Given the description of an element on the screen output the (x, y) to click on. 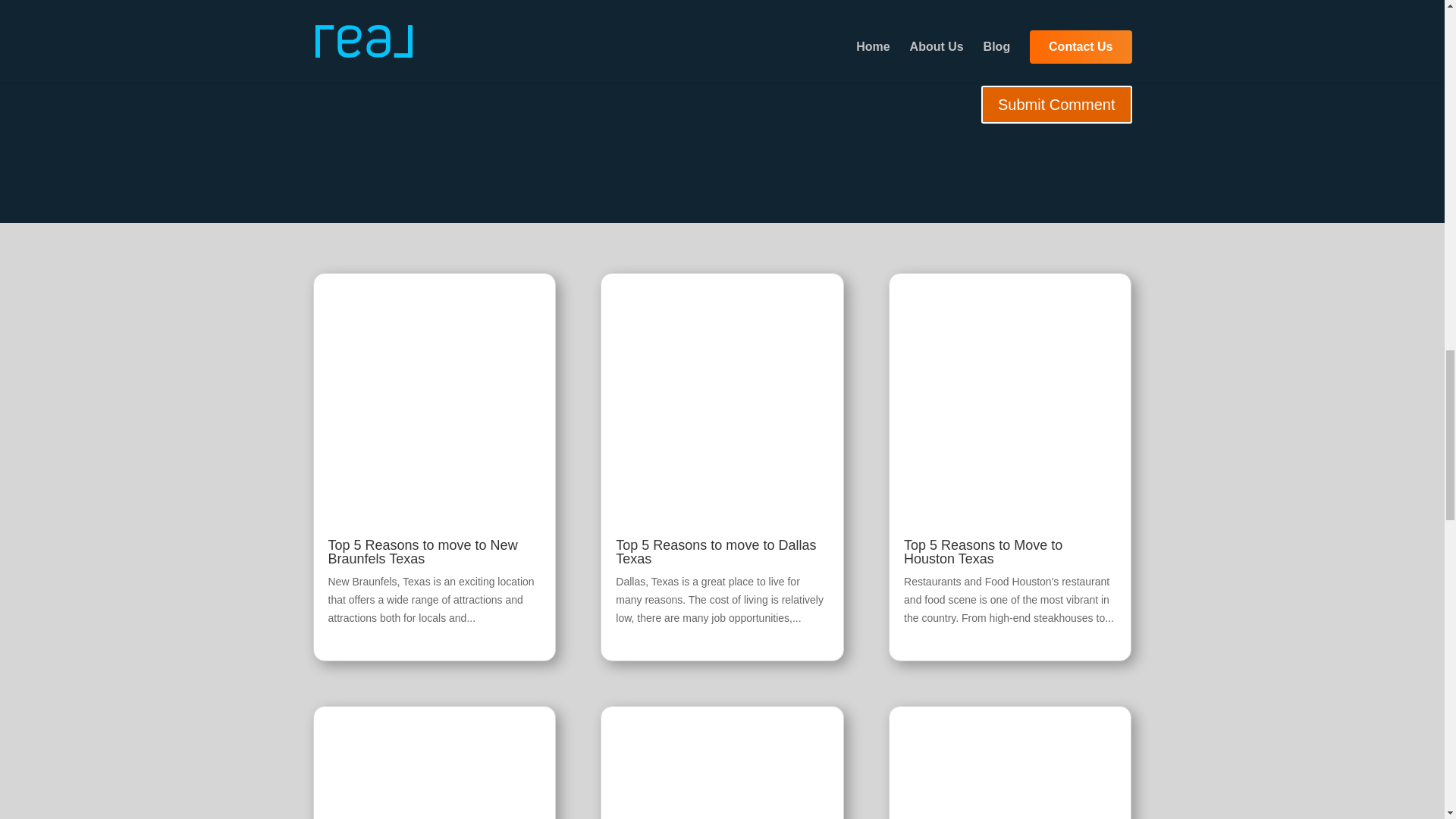
read more (639, 635)
yes (319, 63)
Top 5 Reasons to Move to Houston Texas (983, 551)
read more (928, 635)
Submit Comment (1056, 104)
read more (351, 635)
Top 5 Reasons to move to New Braunfels Texas (421, 551)
Top 5 Reasons to move to Dallas Texas (715, 551)
